Given the description of an element on the screen output the (x, y) to click on. 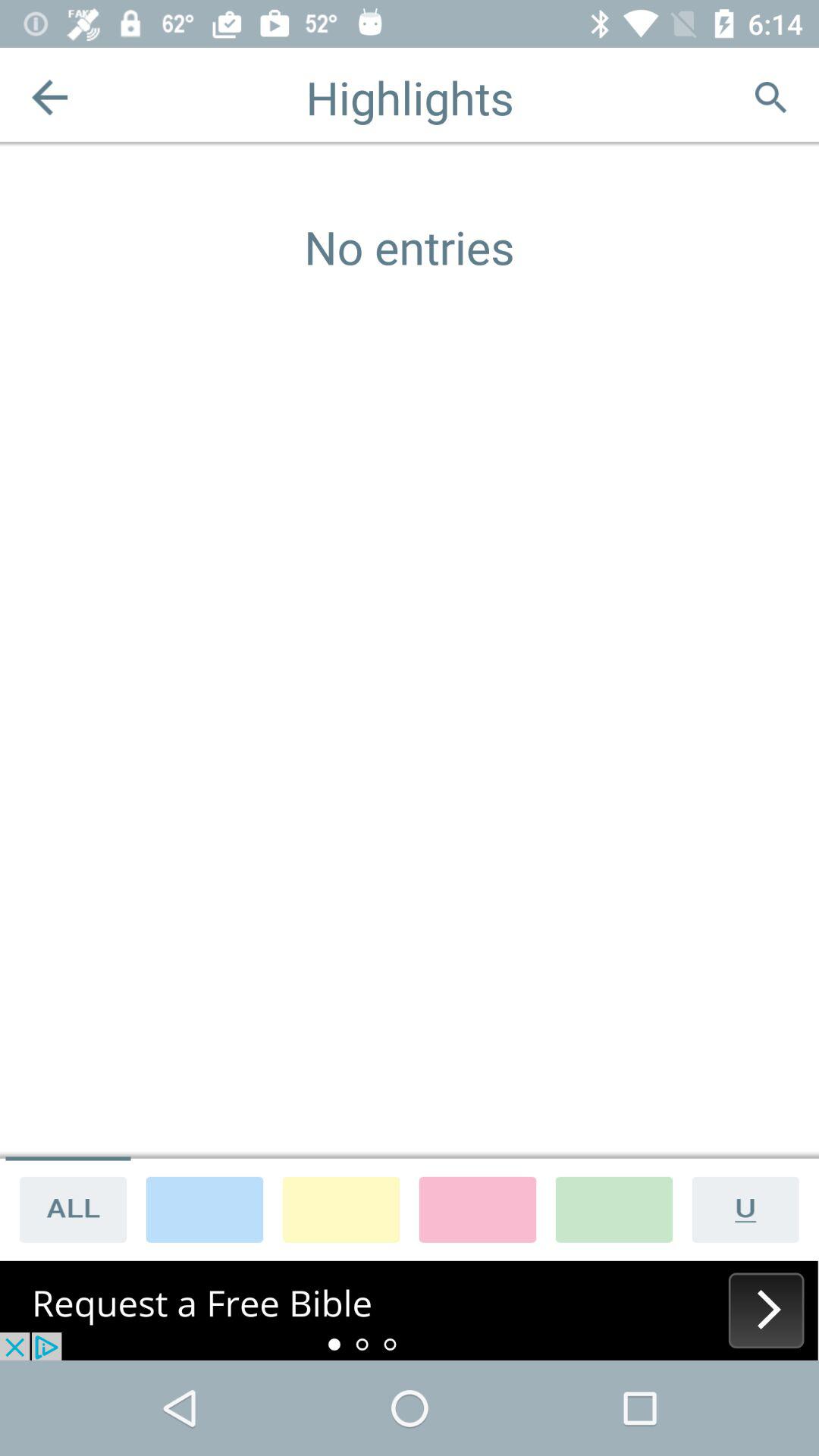
select all (68, 1208)
